Given the description of an element on the screen output the (x, y) to click on. 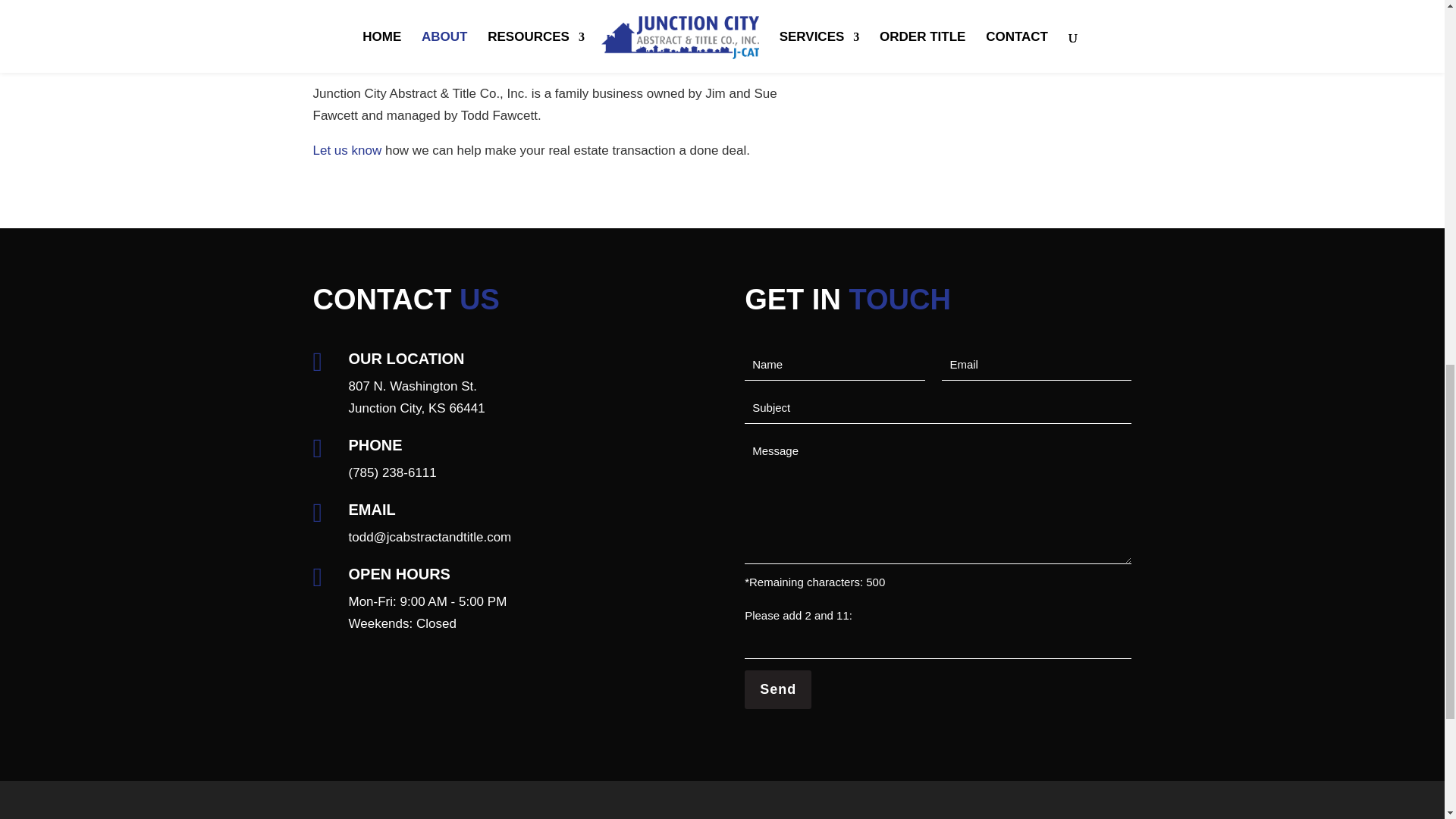
Call Us (392, 472)
Send (416, 397)
Email Us (777, 689)
Google Maps (430, 536)
Portrait Of Hispanic Family Moving Into New Home (416, 397)
Let us know (981, 6)
Contact Us (347, 150)
Send (347, 150)
